Given the description of an element on the screen output the (x, y) to click on. 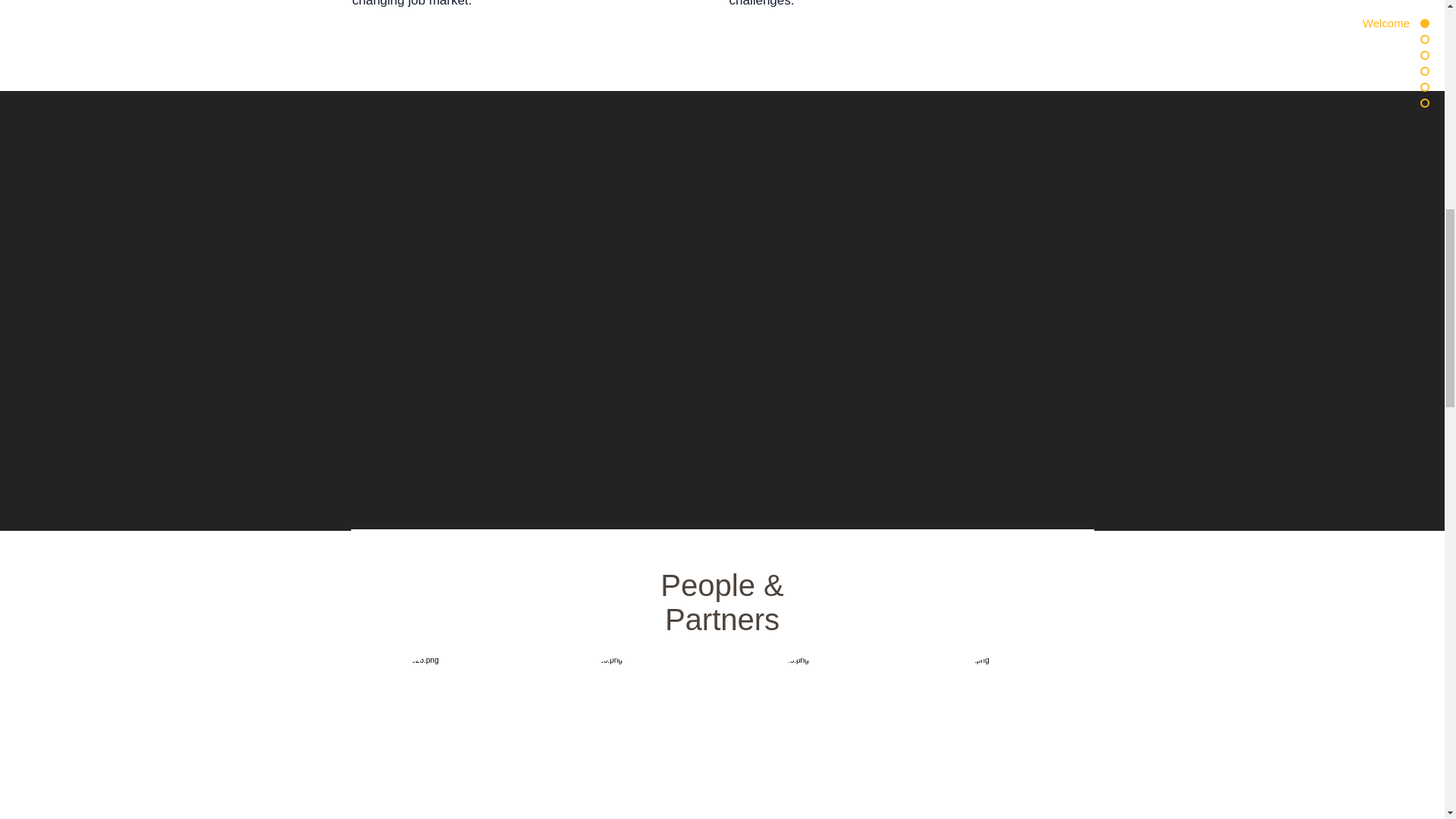
GettyImages-145680711.jpg (1004, 731)
GettyImages-124893619.jpg (630, 731)
GettyImages-145680711.jpg (818, 731)
GettyImages-535587703.jpg (442, 731)
